Given the description of an element on the screen output the (x, y) to click on. 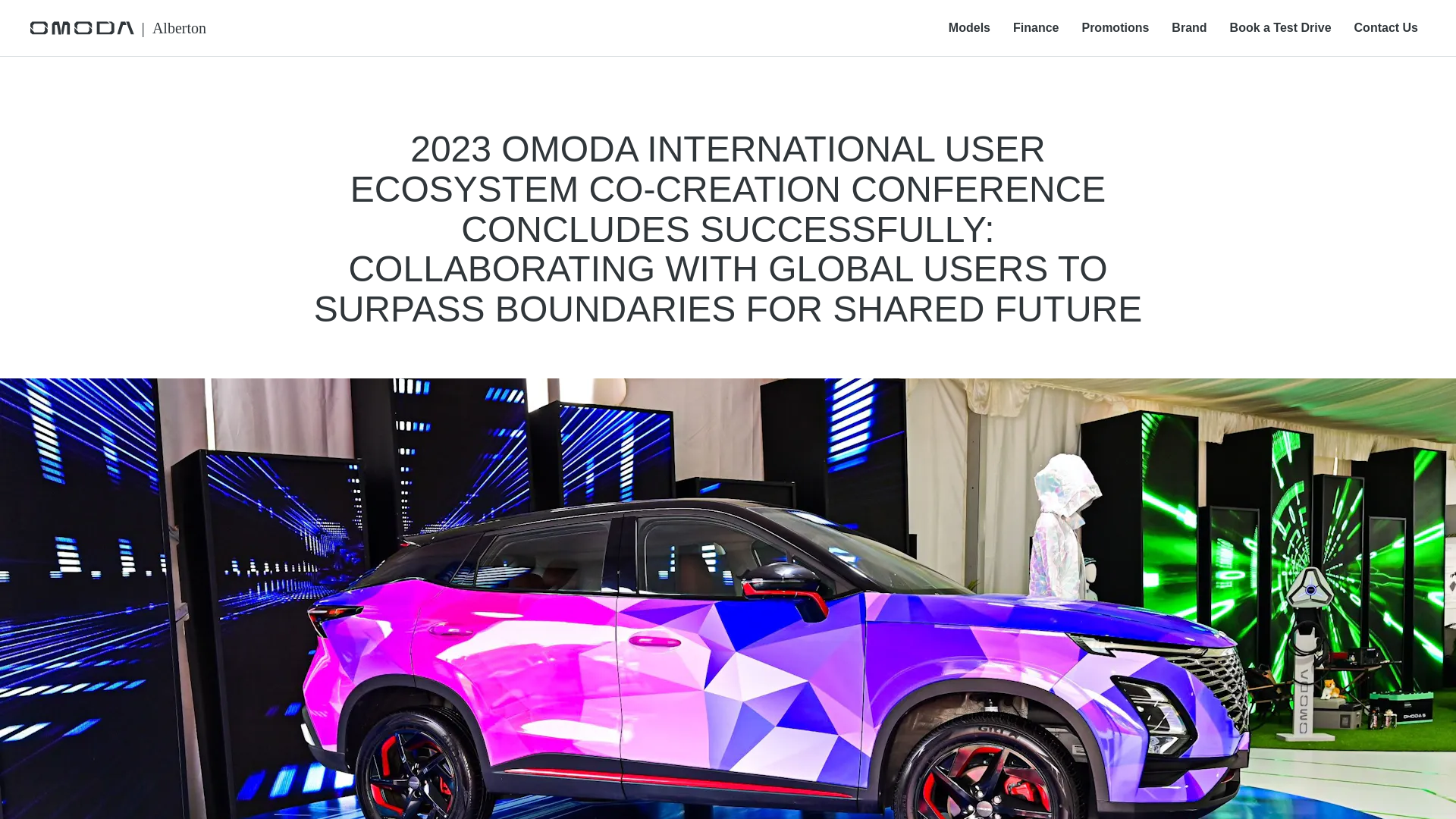
Contact Us (1386, 28)
